Given the description of an element on the screen output the (x, y) to click on. 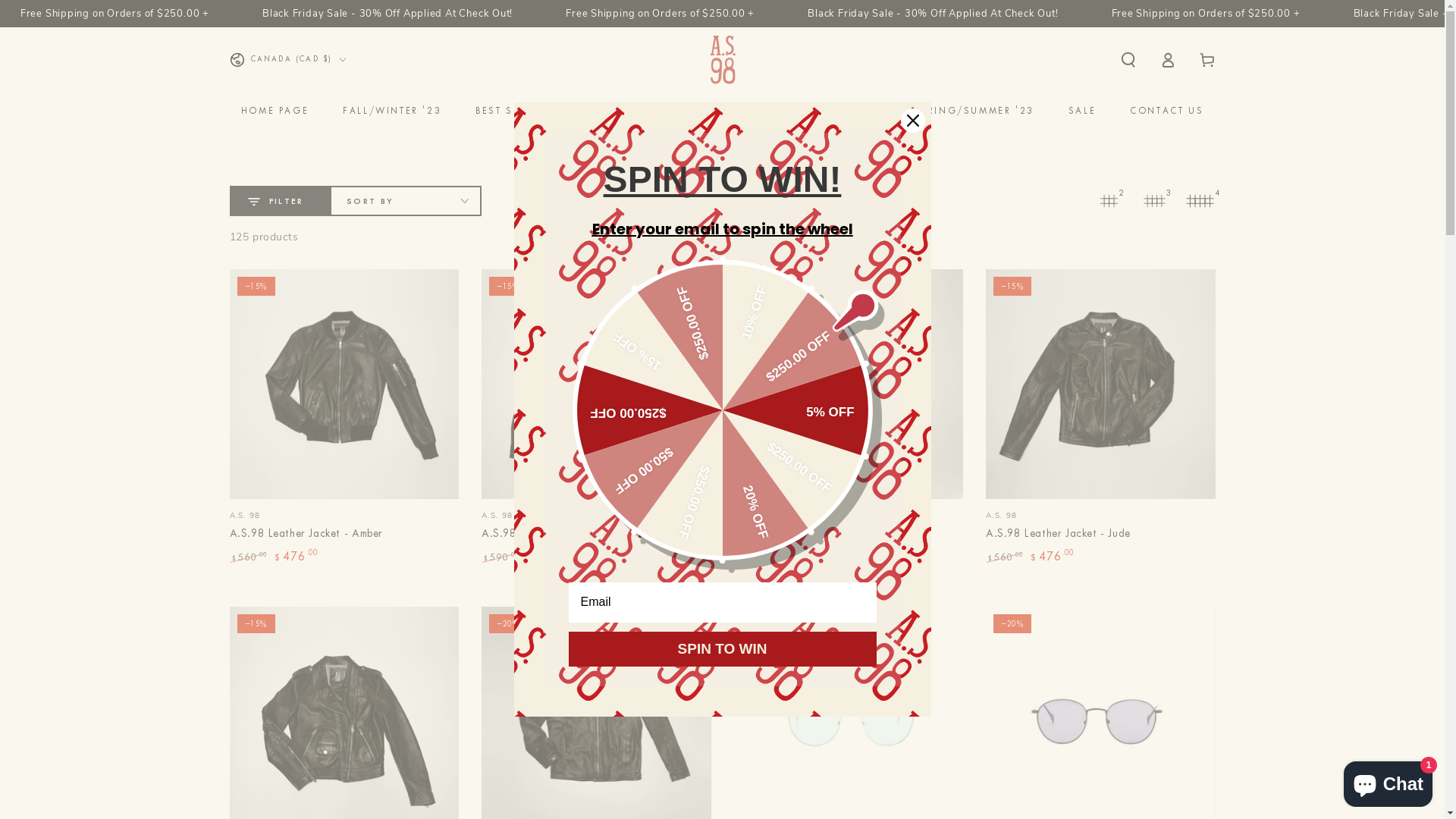
CONTACT US Element type: text (1166, 110)
A.S.98 Leather Jacket - Jimmy Element type: text (848, 416)
WOMEN Element type: text (608, 110)
A.S.98 Leather Jacket - Jude Element type: text (1100, 416)
Shopify online store chat Element type: hover (1388, 780)
Black Friday Sale - 30% Off Applied At Check Out! Element type: text (297, 13)
MEN Element type: text (868, 110)
4 Element type: text (1199, 200)
A.S.98 Leather Jacket - Jimmy Element type: text (808, 534)
A.S.98 Leather Jacket - Jude Element type: text (1057, 534)
HOME PAGE Element type: text (274, 110)
SUNGLASSES Element type: text (702, 110)
SALE Element type: text (1082, 110)
CANADA (CAD $) Element type: text (287, 59)
A.S.98 Leather Jacket - Jason Element type: text (556, 534)
A.S.98 Leather Jacket - Amber Element type: text (305, 534)
APPAREL Element type: text (797, 110)
Black Friday Sale - 30% Off Applied At Check Out! Element type: text (843, 13)
Log in Element type: text (1167, 59)
A.S.98 Leather Jacket - Amber Element type: text (343, 416)
SPRING/SUMMER '23 Element type: text (974, 110)
A.S.98 Leather Jacket - Jason Element type: text (596, 416)
FALL/WINTER '23 Element type: text (391, 110)
BEST SELLERS Element type: text (513, 110)
3 Element type: text (1154, 200)
2 Element type: text (1108, 200)
